Given the description of an element on the screen output the (x, y) to click on. 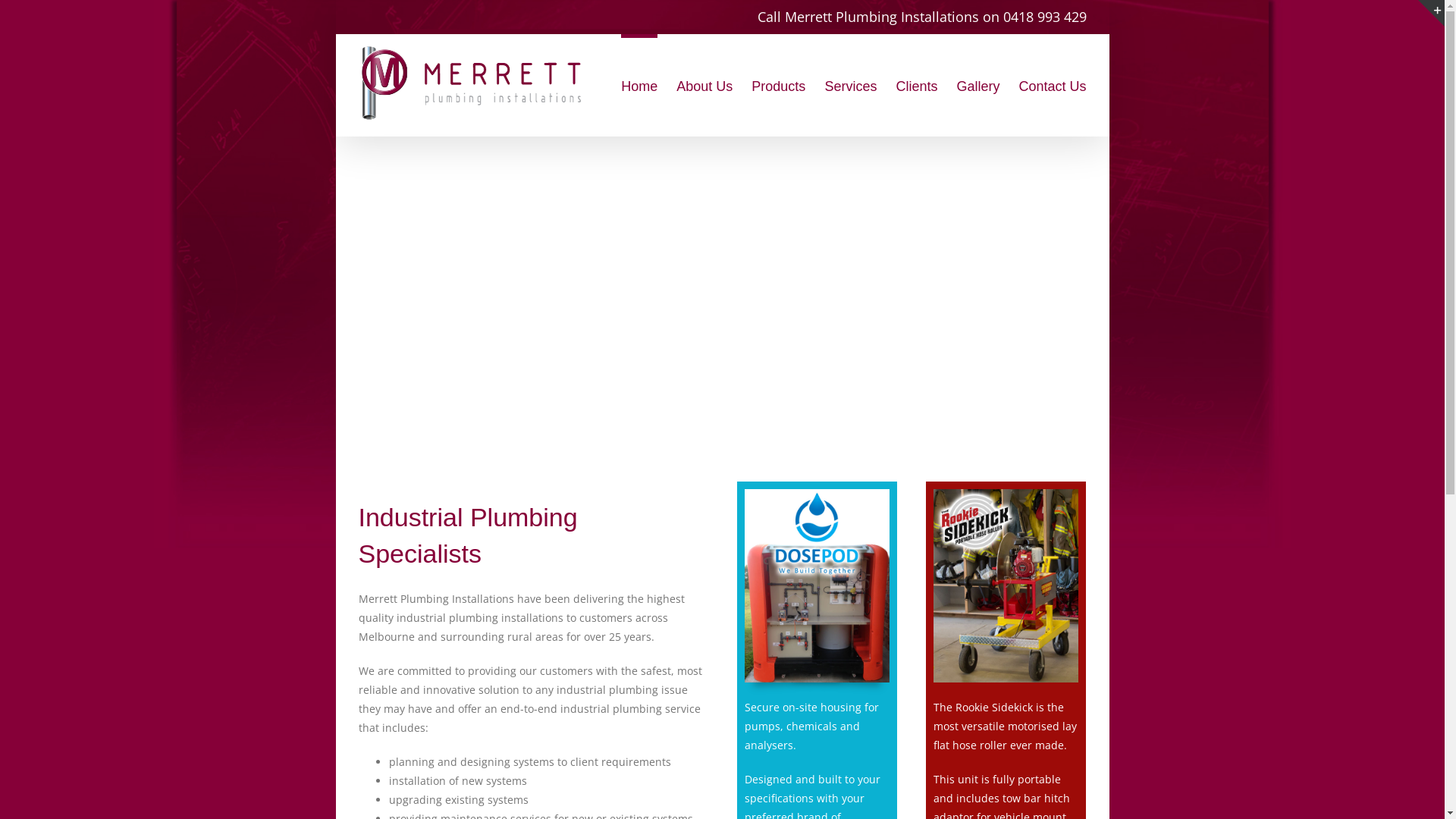
Gallery Element type: text (977, 84)
Contact Us Element type: text (1051, 84)
Services Element type: text (850, 84)
0418 993 429 Element type: text (1043, 16)
About Us Element type: text (704, 84)
Products Element type: text (778, 84)
Home Element type: text (639, 84)
Clients Element type: text (916, 84)
